Given the description of an element on the screen output the (x, y) to click on. 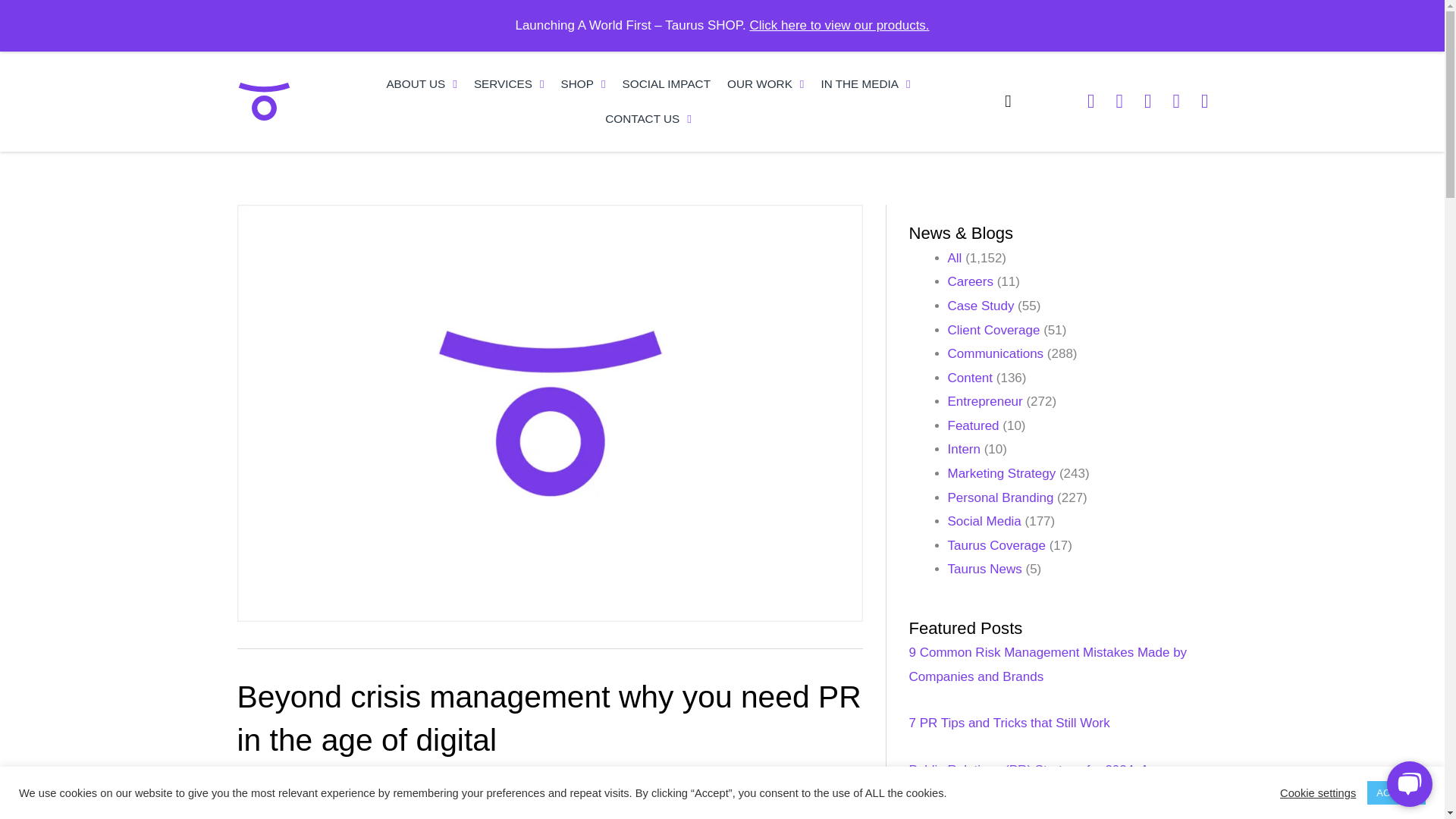
SHOP (583, 83)
IN THE MEDIA (865, 83)
CONTACT US (648, 118)
ABOUT US (421, 83)
SERVICES (509, 83)
Click here to view our products. (838, 25)
OUR WORK (765, 83)
SOCIAL IMPACT (666, 83)
